Given the description of an element on the screen output the (x, y) to click on. 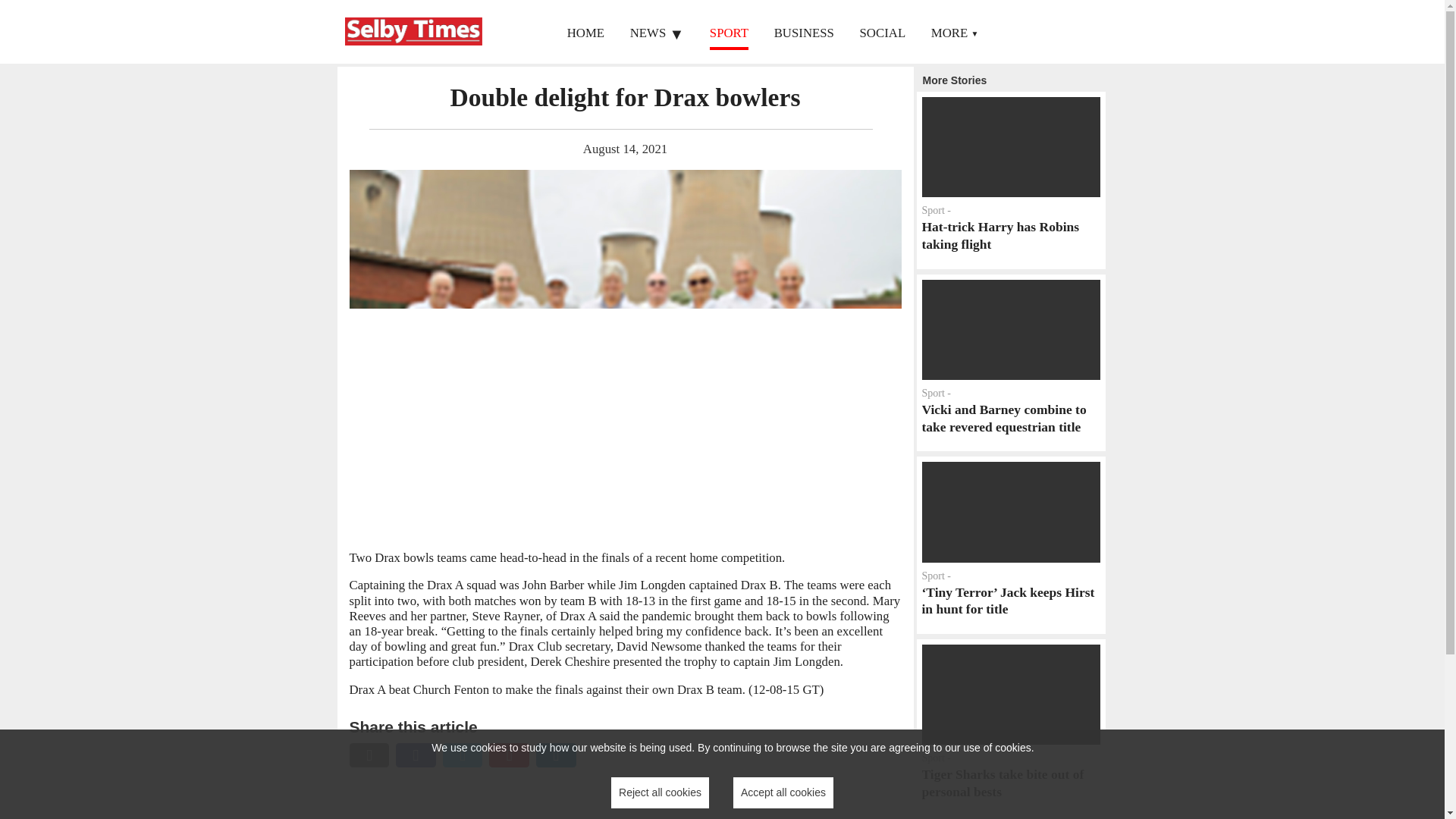
SPORT (729, 32)
SOCIAL (882, 32)
Reject all cookies (660, 792)
HOME (1010, 180)
Accept all cookies (585, 32)
BUSINESS (782, 792)
